Given the description of an element on the screen output the (x, y) to click on. 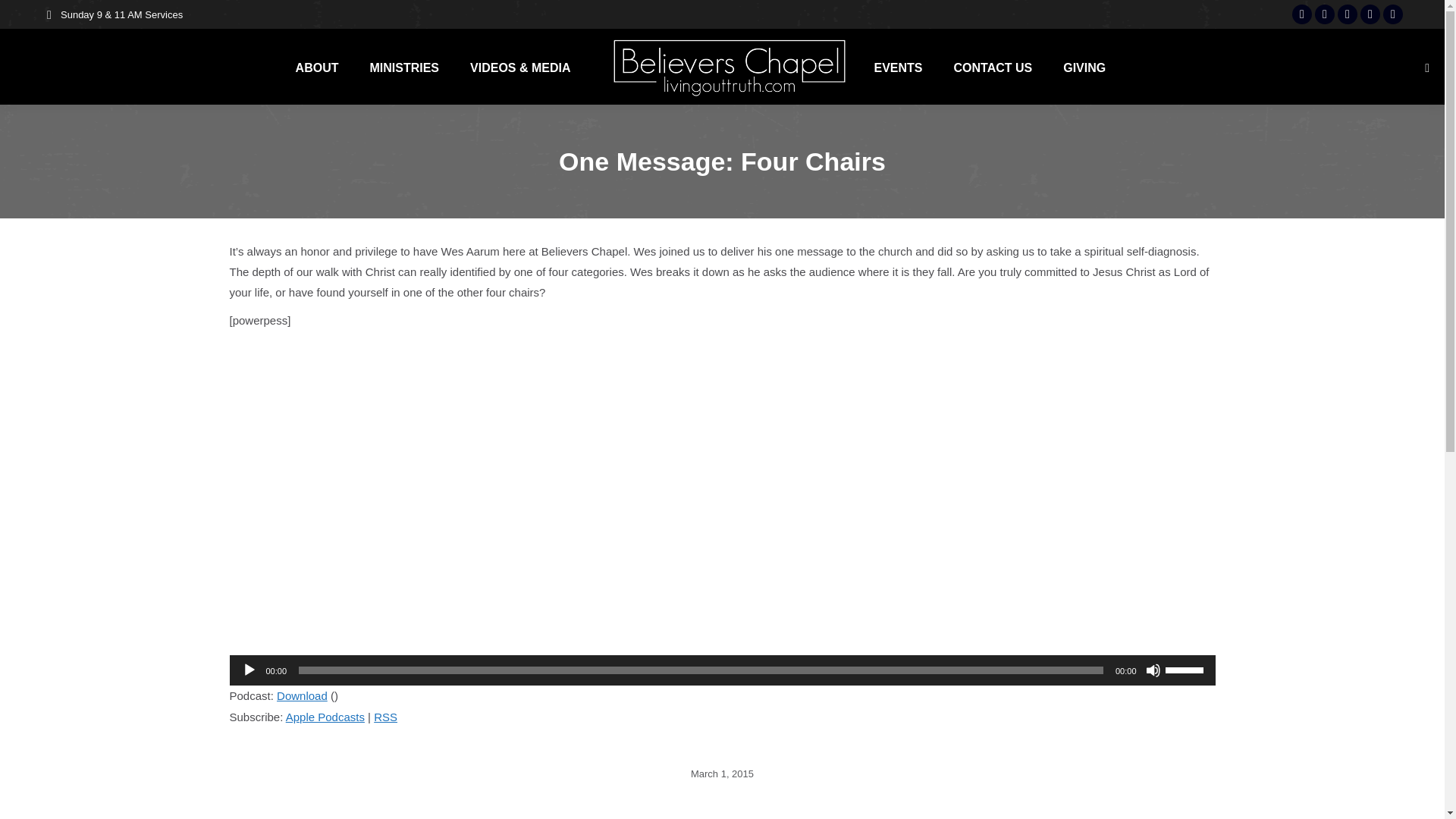
Mail page opens in new window (1369, 14)
Play (248, 670)
Go! (24, 16)
Mail page opens in new window (1369, 14)
Rss page opens in new window (1393, 14)
Facebook page opens in new window (1324, 14)
ABOUT (317, 67)
YouTube page opens in new window (1347, 14)
GIVING (1084, 67)
Instagram page opens in new window (1301, 14)
Instagram page opens in new window (1301, 14)
CONTACT US (993, 67)
Facebook page opens in new window (1324, 14)
YouTube page opens in new window (1347, 14)
Rss page opens in new window (1393, 14)
